Given the description of an element on the screen output the (x, y) to click on. 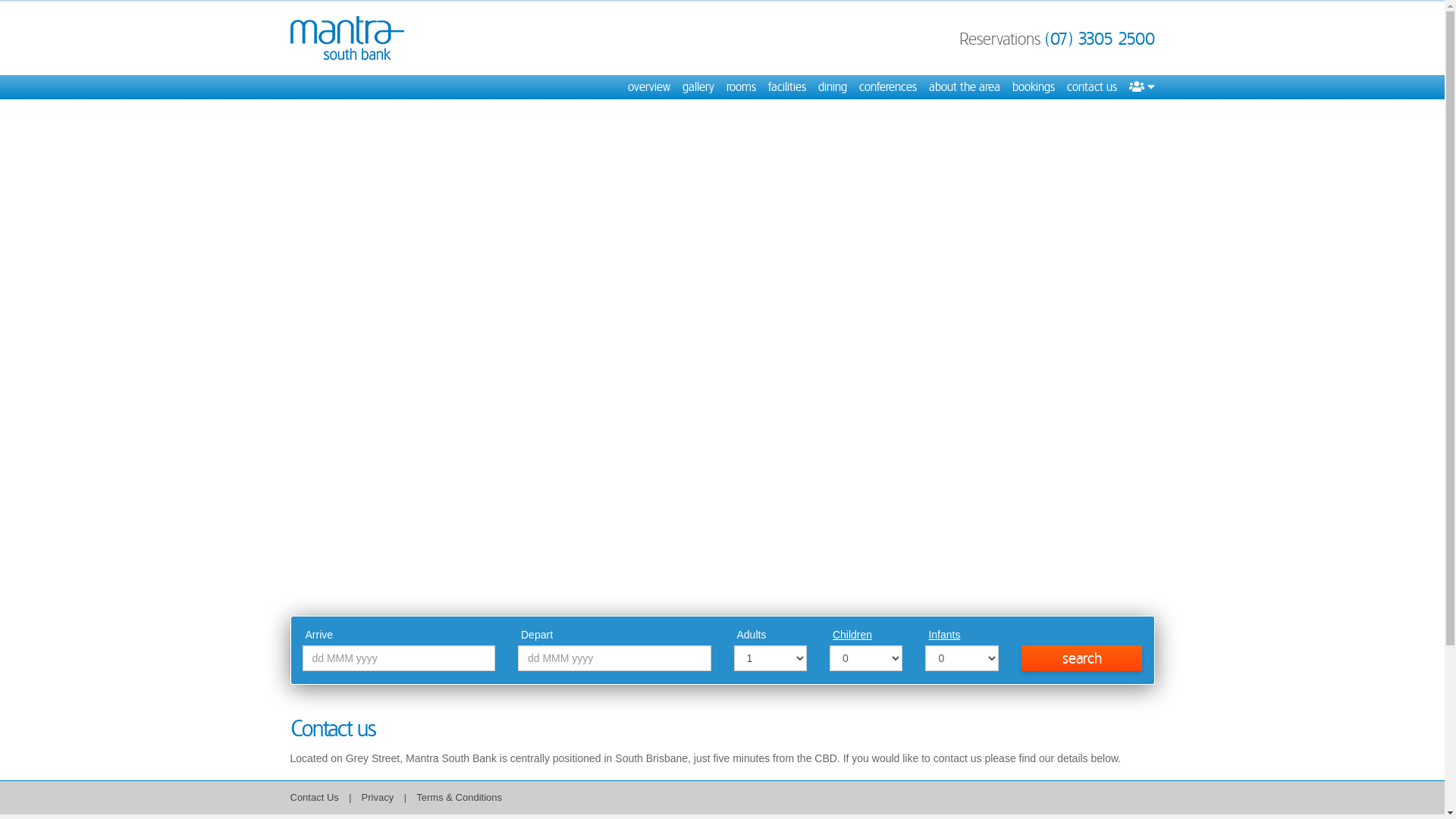
(07) 3305 2500 Element type: text (1099, 38)
dining Element type: text (831, 87)
Contact Us Element type: text (313, 797)
bookings Element type: text (1032, 87)
gallery Element type: text (698, 87)
Mantra South Bank Brisbane Element type: hover (346, 37)
contact us Element type: text (1091, 87)
overview Element type: text (648, 87)
search Element type: text (1081, 658)
Privacy Element type: text (378, 797)
Terms & Conditions Element type: text (459, 797)
facilities Element type: text (786, 87)
about the area Element type: text (963, 87)
rooms Element type: text (741, 87)
conferences Element type: text (887, 87)
